Given the description of an element on the screen output the (x, y) to click on. 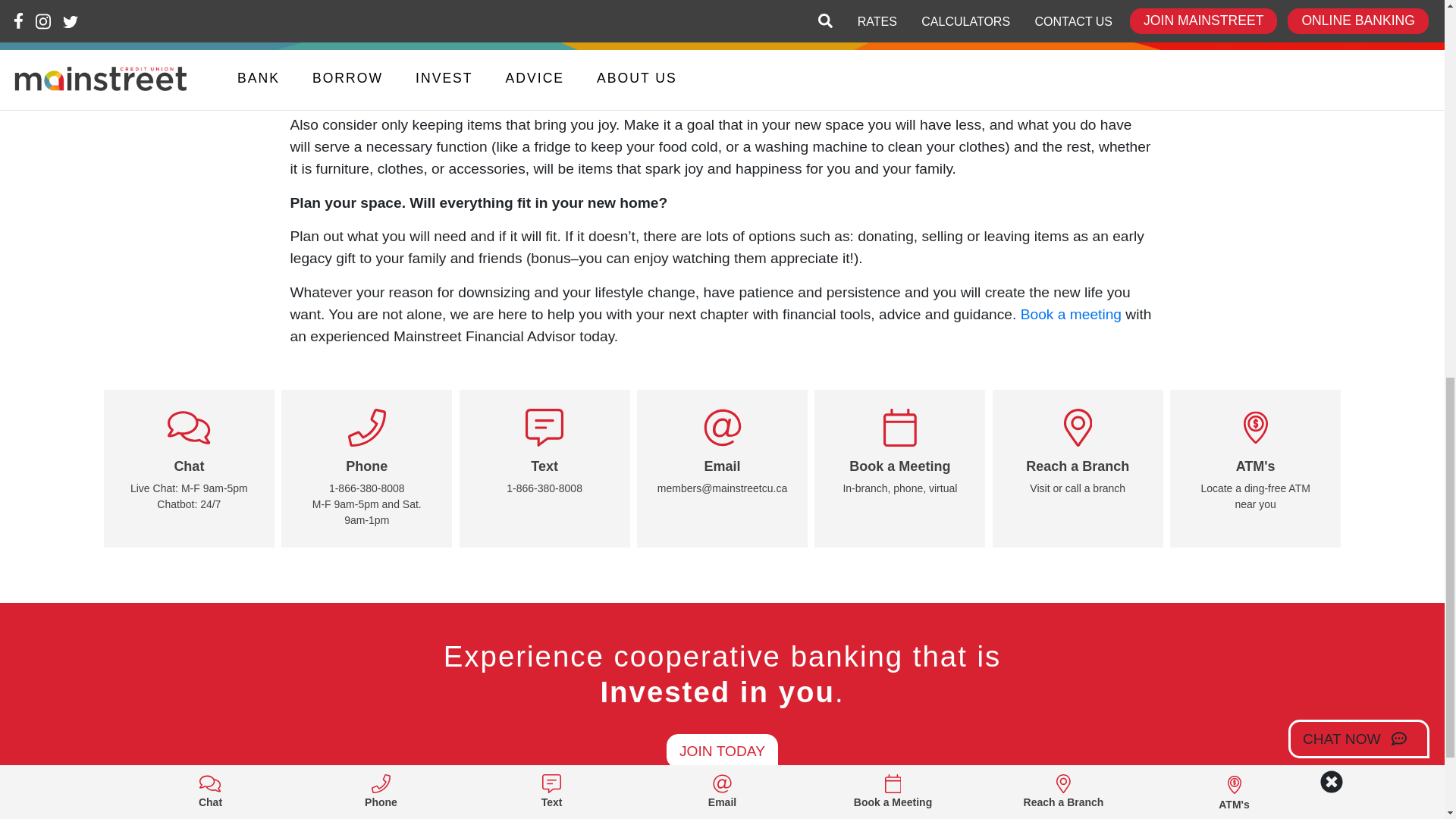
Close the sticky footer at the bottom of the screen (1330, 3)
